Given the description of an element on the screen output the (x, y) to click on. 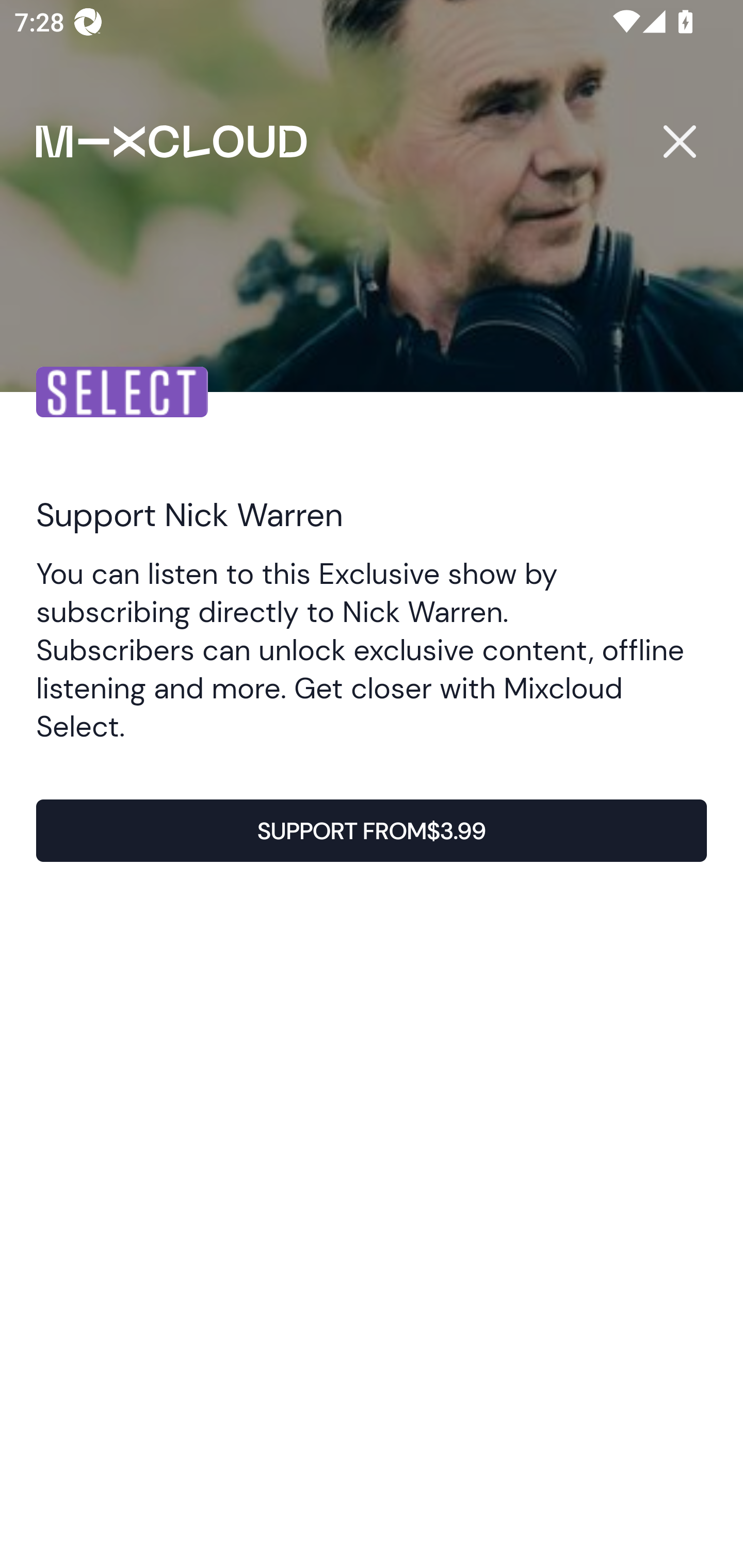
Close popup button (679, 141)
SUPPORT FROM$3.99 (371, 830)
